Given the description of an element on the screen output the (x, y) to click on. 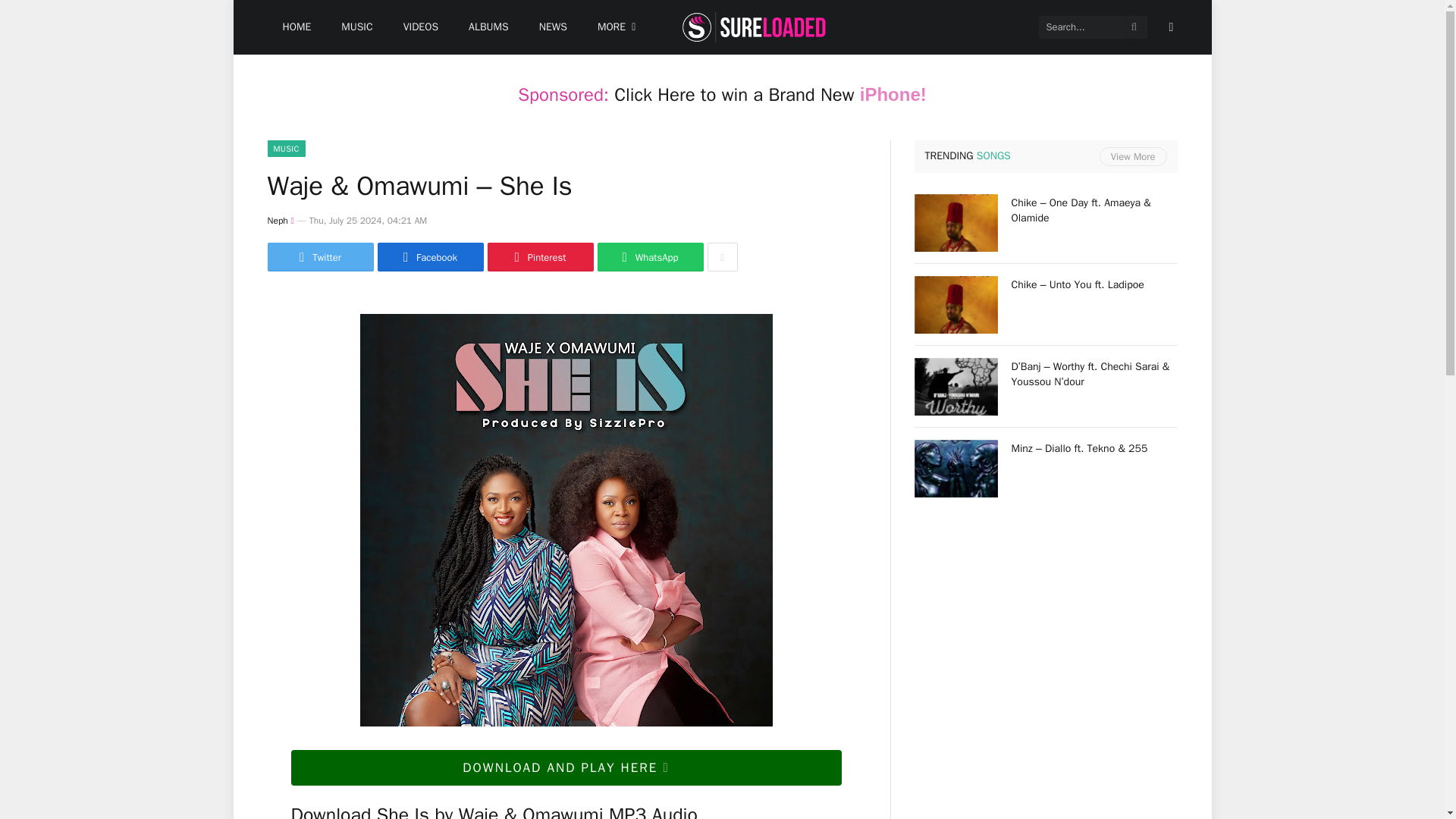
NEWS (553, 27)
MUSIC (356, 27)
Share on Facebook (430, 256)
HOME (296, 27)
ALBUMS (488, 27)
Show More Social Sharing (721, 256)
Sponsored: (563, 94)
Share on Pinterest (539, 256)
Share on WhatsApp (649, 256)
MORE (616, 27)
VIDEOS (420, 27)
SureLoaded (753, 27)
Switch to Dark Design - easier on eyes. (1168, 27)
